Given the description of an element on the screen output the (x, y) to click on. 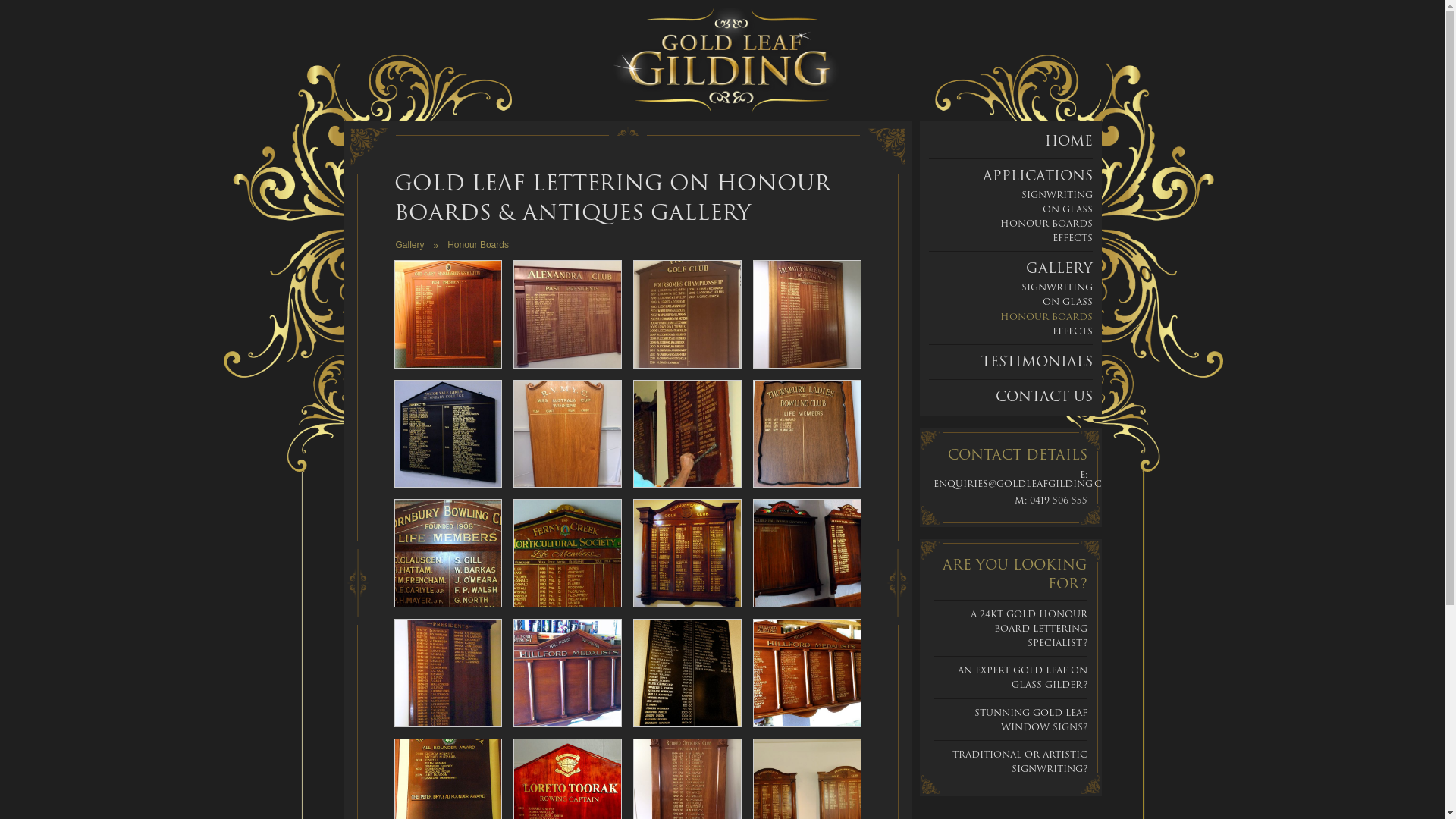
0419 506 555 Element type: text (1058, 499)
HONOUR BOARDS Element type: text (1045, 316)
HOME Element type: text (1068, 140)
Link to DSC 1472 001 image Element type: hover (448, 791)
Commonwealth Golf Club Honour Board - Gold Leaf Lettering Element type: hover (687, 552)
TRADITIONAL OR ARTISTIC SIGNWRITING? Element type: text (1019, 760)
Gold Leaf Gilded Honour Board - Alexandra Club Element type: hover (567, 314)
Thornbury Bowling Club - Honour Board Gold Leaf Lettering Element type: hover (448, 552)
Gallery Element type: text (409, 244)
Gold Leaf Lettering on Honour Board.  Carey Grammar. Element type: hover (448, 314)
UA.MOC.GNIDLIGFAELDLOG@SEIRIUQNE Element type: text (1034, 483)
TESTIMONIALS Element type: text (1036, 361)
Link to hillford honour board 2 image Element type: hover (807, 671)
APPLICATIONS Element type: text (1037, 175)
Link to honor board gold leaf hand lettering image Element type: hover (687, 432)
Honour Board Gold Leaf Lettering (Bequests) Element type: hover (687, 672)
AN EXPERT GOLD LEAF ON GLASS GILDER? Element type: text (1022, 676)
Link to bequests honour board gold leaf lettering image Element type: hover (687, 671)
SIGNWRITING Element type: text (1056, 194)
Link to Pascoe Girls Honour Board image Element type: hover (448, 432)
ON GLASS Element type: text (1066, 208)
Honour Boards Element type: text (477, 244)
ON GLASS Element type: text (1066, 301)
Link to hillford honour board gold leaf lettering image Element type: hover (567, 671)
CONTACT US Element type: text (1043, 396)
EFFECTS Element type: text (1072, 330)
Gold Leaf Lettering on Honour Board - Flinders Golf Club Element type: hover (687, 314)
GALLERY Element type: text (1058, 268)
SIGNWRITING Element type: text (1056, 286)
Link to DSC 1461 image Element type: hover (807, 791)
A 24KT GOLD HONOUR BOARD LETTERING SPECIALIST? Element type: text (1028, 627)
Link to carey grammar gold leaf honor board lettering image Element type: hover (448, 313)
EFFECTS Element type: text (1072, 237)
STUNNING GOLD LEAF WINDOW SIGNS? Element type: text (1030, 719)
HONOUR BOARDS Element type: text (1045, 223)
Link to DSC 1561 image Element type: hover (567, 791)
